Given the description of an element on the screen output the (x, y) to click on. 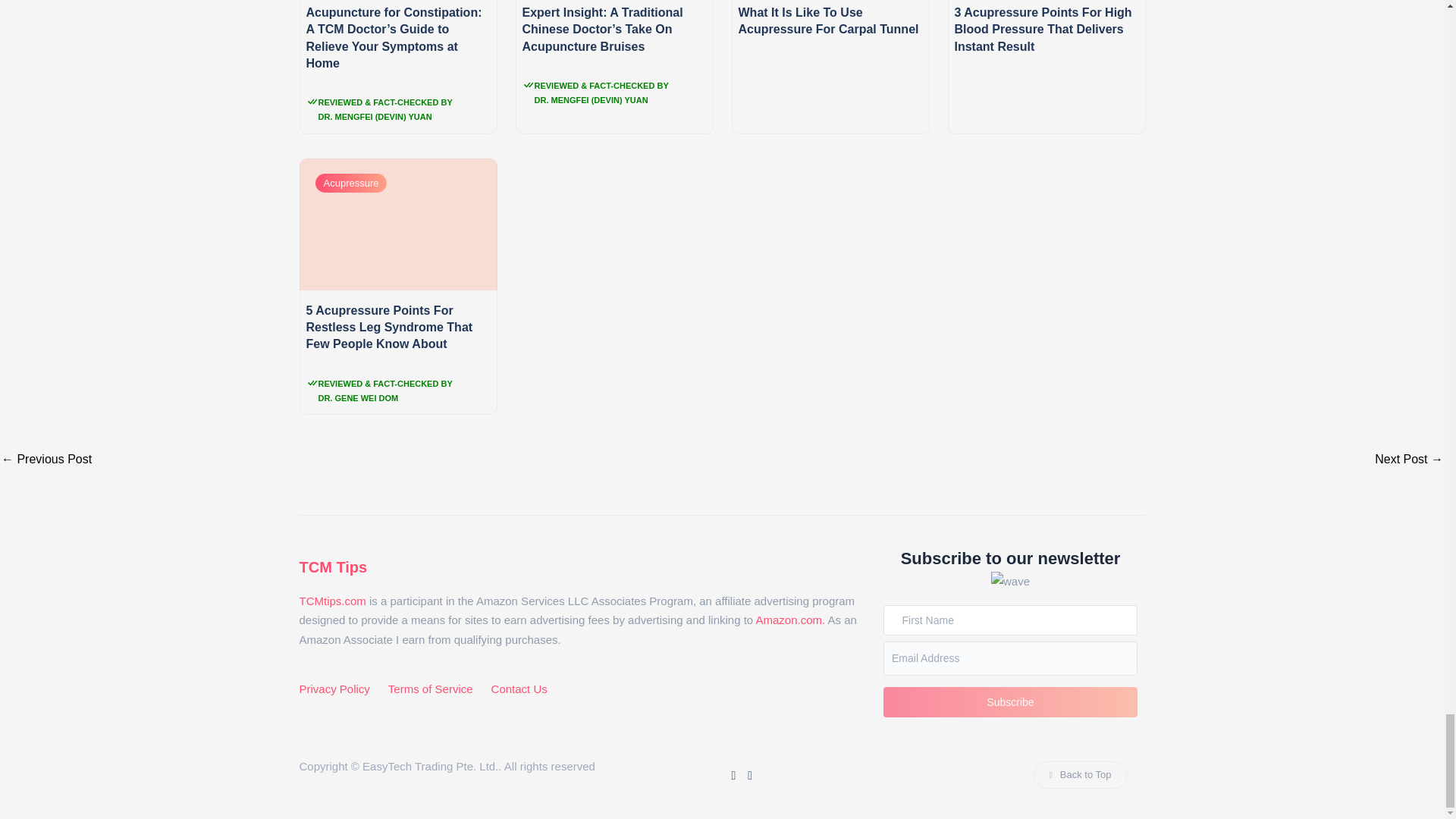
5 Acupressure Points For Sciatica According To Experts (1408, 459)
7 Acupressure Points For Knee Pain That You Can DIY At Home (46, 459)
